Given the description of an element on the screen output the (x, y) to click on. 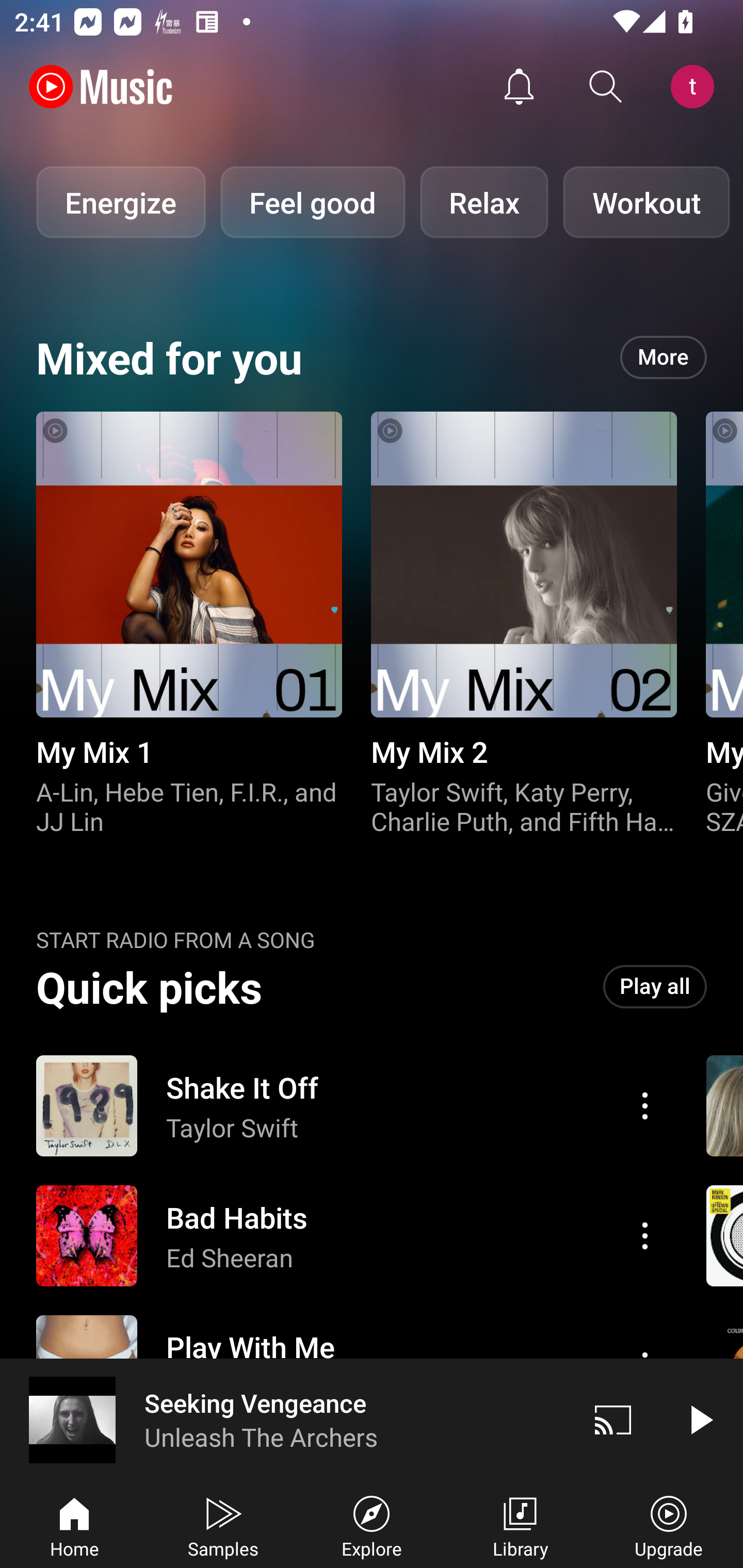
Activity feed (518, 86)
Search (605, 86)
Account (696, 86)
Action menu (349, 1106)
Action menu (644, 1106)
Action menu (349, 1236)
Action menu (644, 1235)
Seeking Vengeance Unleash The Archers (284, 1419)
Cast. Disconnected (612, 1419)
Play video (699, 1419)
Home (74, 1524)
Samples (222, 1524)
Explore (371, 1524)
Library (519, 1524)
Upgrade (668, 1524)
